Given the description of an element on the screen output the (x, y) to click on. 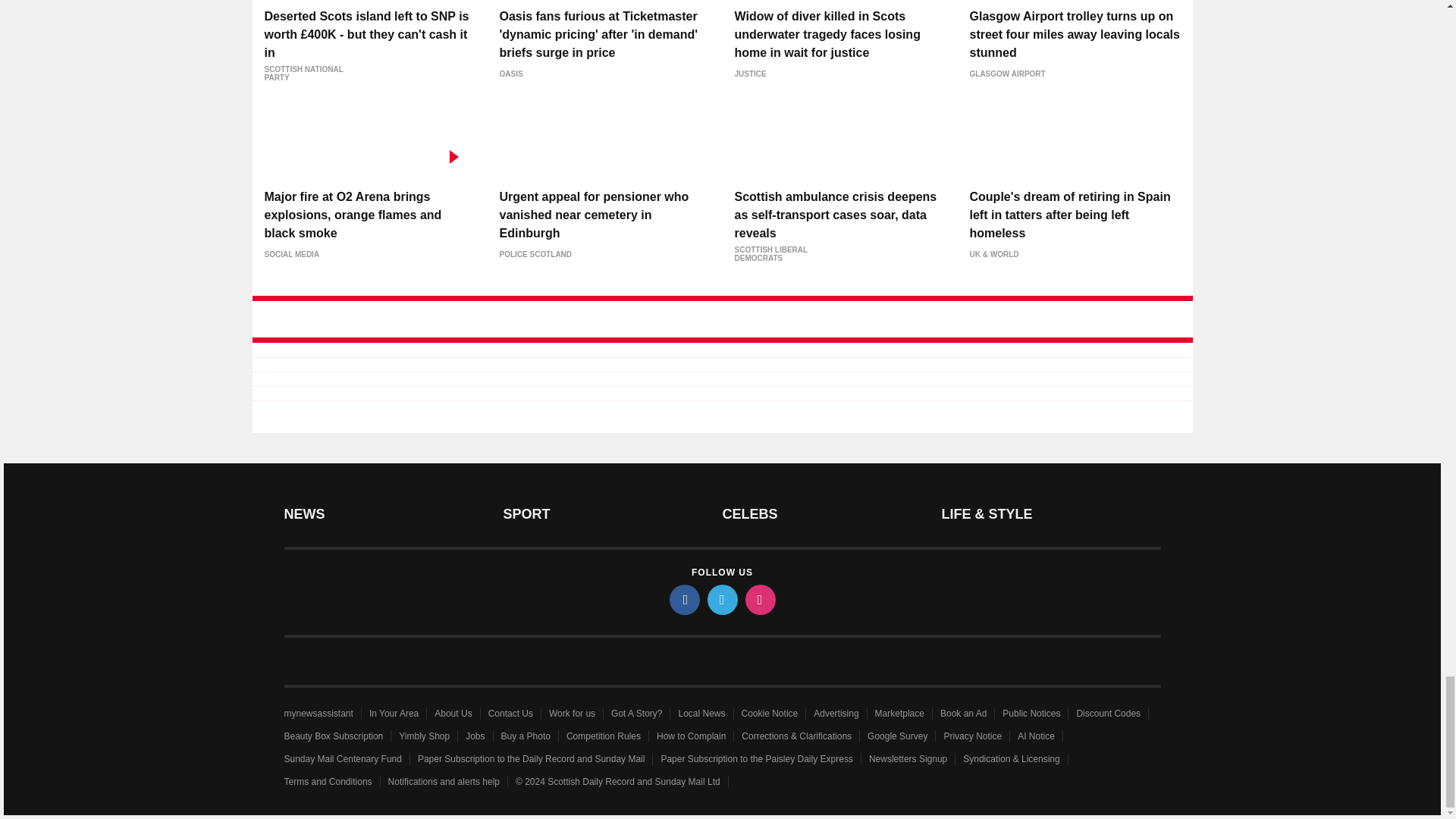
facebook (683, 599)
instagram (759, 599)
twitter (721, 599)
